Given the description of an element on the screen output the (x, y) to click on. 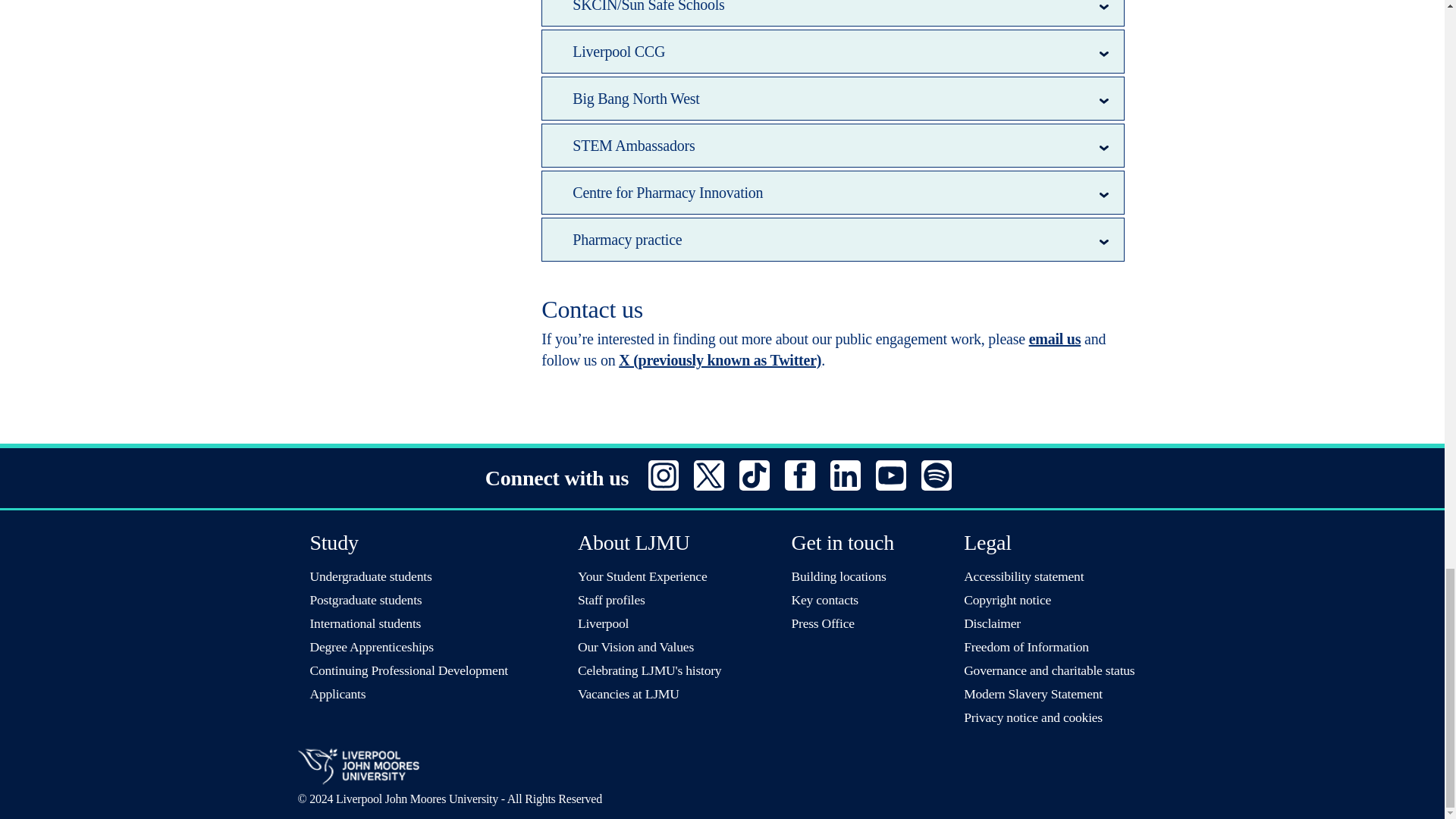
Press and Media (823, 622)
